Given the description of an element on the screen output the (x, y) to click on. 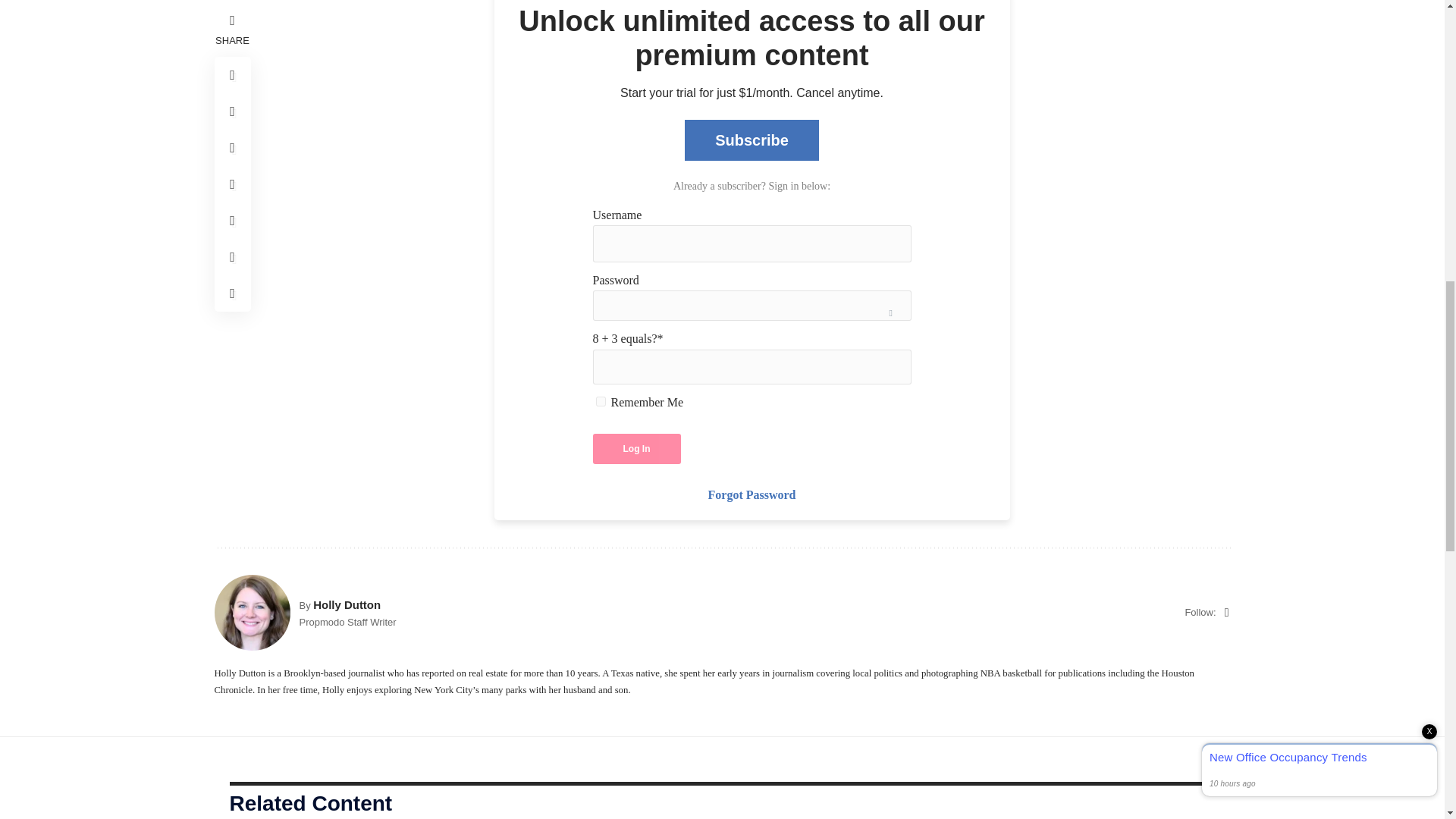
Log In (636, 449)
forever (600, 401)
